Given the description of an element on the screen output the (x, y) to click on. 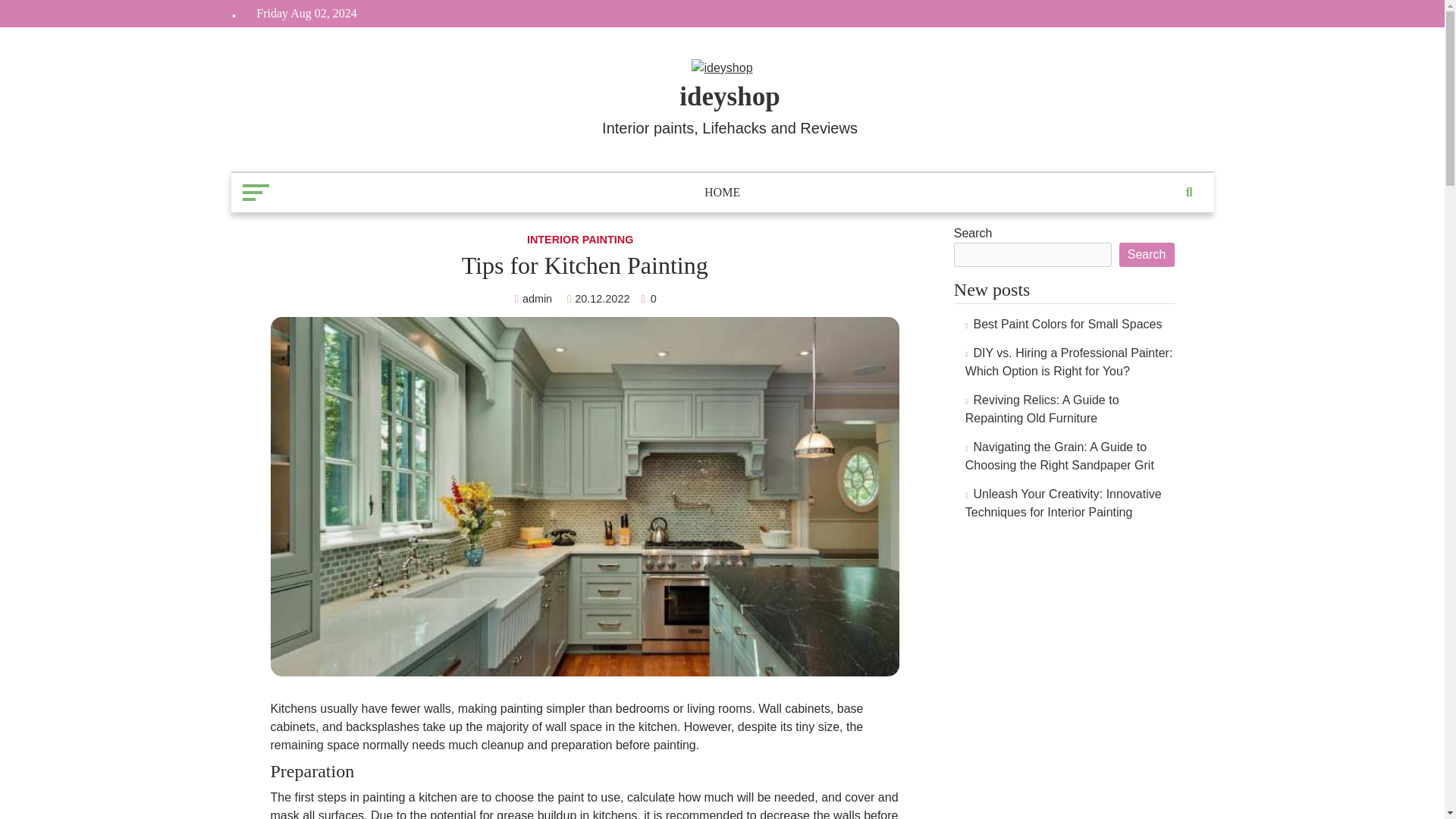
20.12.2022 (597, 298)
HOME (721, 197)
ideyshop (728, 96)
INTERIOR PAINTING (582, 239)
admin (535, 298)
0 (647, 298)
